Given the description of an element on the screen output the (x, y) to click on. 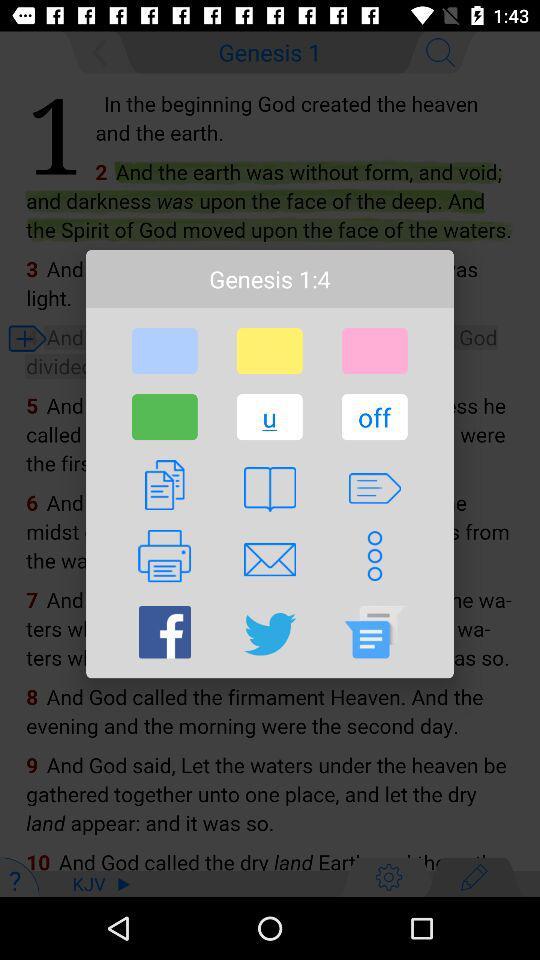
swipe until the u icon (269, 417)
